Given the description of an element on the screen output the (x, y) to click on. 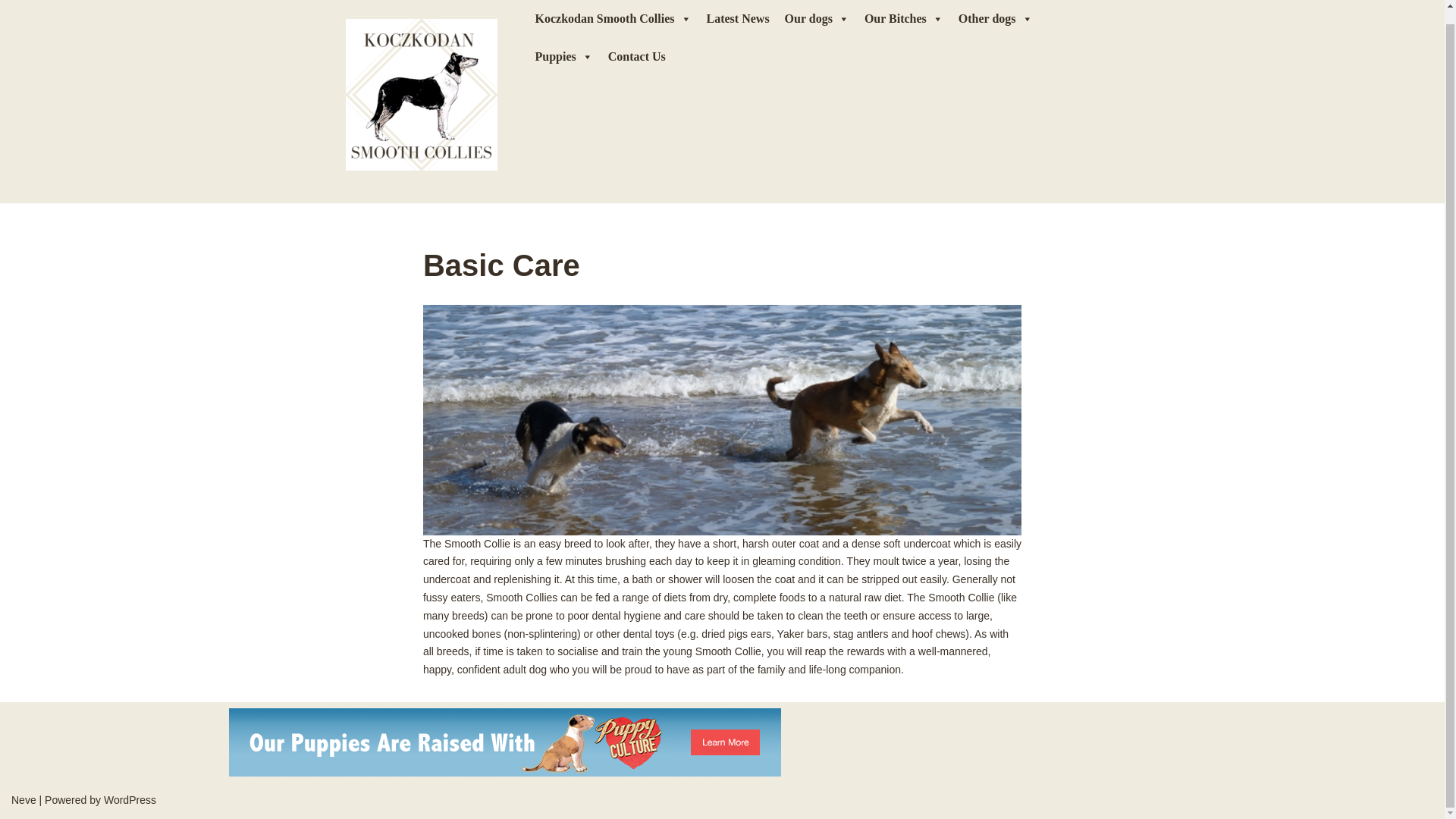
Puppies (563, 56)
Latest News (737, 18)
Our Bitches (903, 18)
Our dogs (817, 18)
Skip to content (11, 17)
PC banner (504, 742)
Other dogs (995, 18)
Koczkodan Smooth Collies (612, 18)
